Given the description of an element on the screen output the (x, y) to click on. 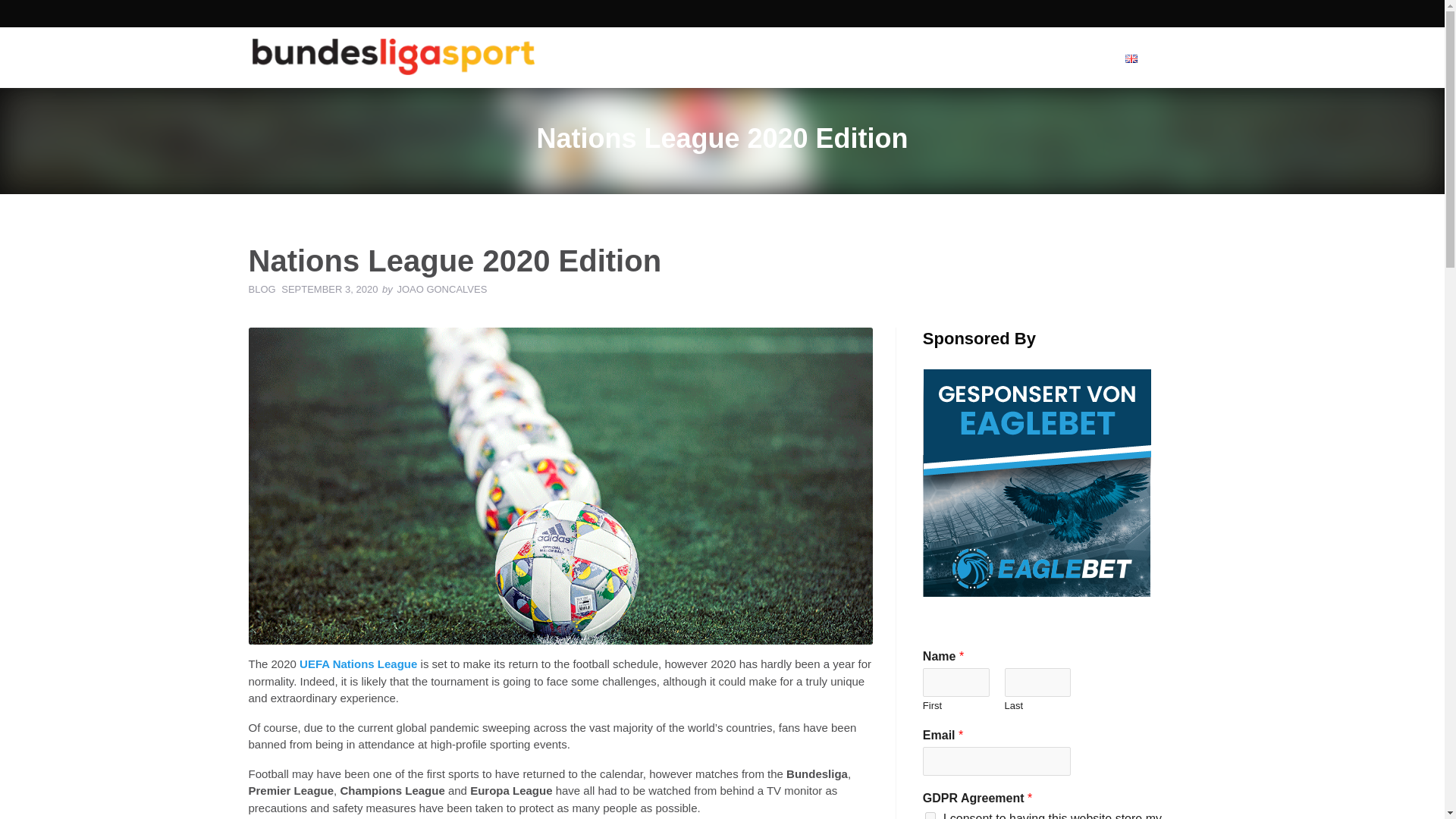
News (940, 57)
BLOG (262, 288)
English (1152, 56)
UEFA Nations League (357, 663)
The Bundesliga (1017, 57)
Home (888, 57)
